Given the description of an element on the screen output the (x, y) to click on. 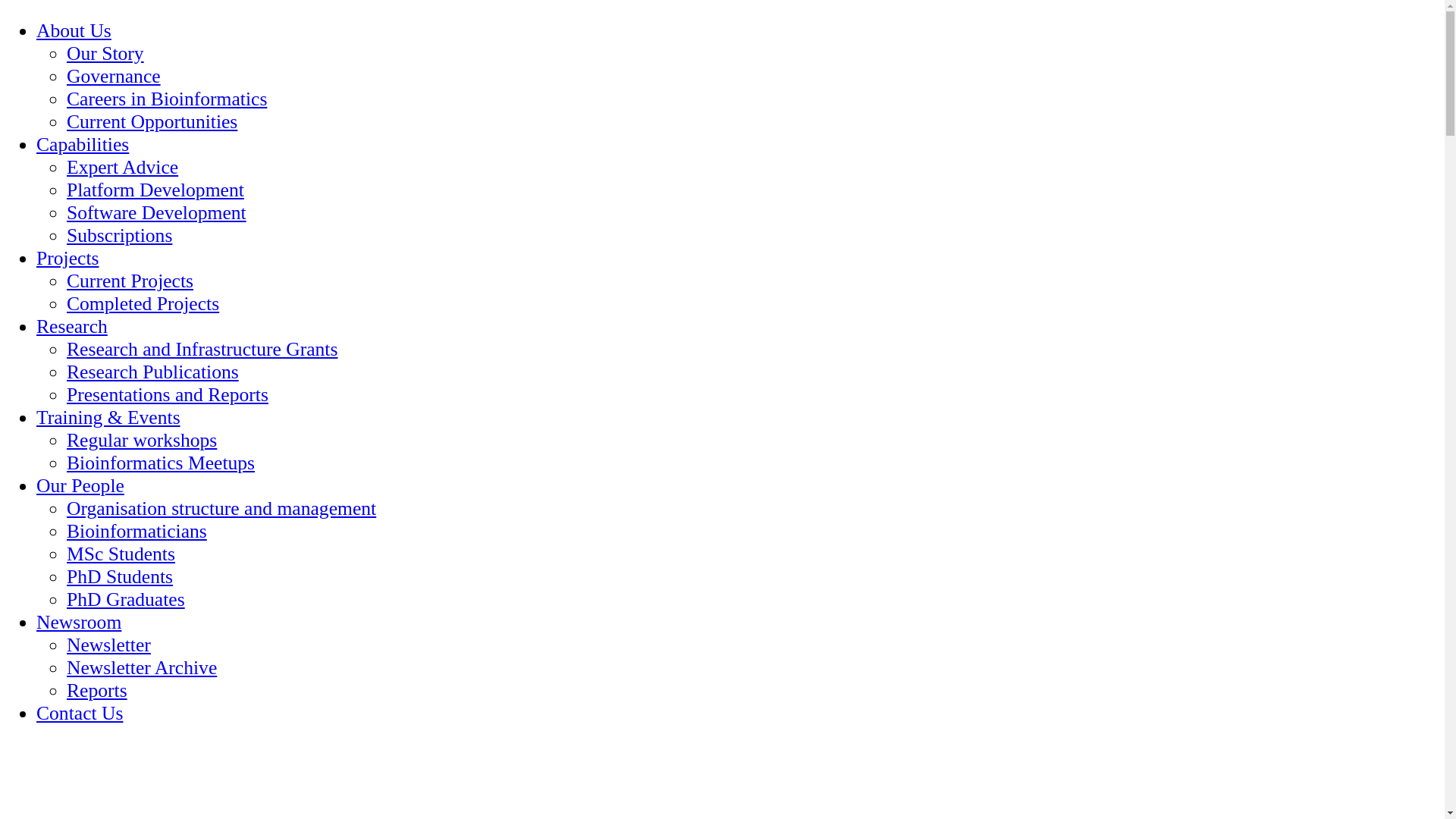
Newsletter Archive Element type: text (141, 667)
Research and Infrastructure Grants Element type: text (201, 349)
Careers in Bioinformatics Element type: text (166, 98)
Research Publications Element type: text (152, 371)
Governance Element type: text (113, 76)
Bioinformaticians Element type: text (136, 531)
Our Story Element type: text (105, 53)
MSc Students Element type: text (120, 553)
Training & Events Element type: text (108, 417)
Platform Development Element type: text (155, 189)
Expert Advice Element type: text (122, 167)
Capabilities Element type: text (82, 144)
Presentations and Reports Element type: text (167, 394)
PhD Graduates Element type: text (125, 599)
PhD Students Element type: text (119, 576)
Subscriptions Element type: text (119, 235)
Organisation structure and management Element type: text (221, 508)
Newsletter Element type: text (108, 644)
Current Opportunities Element type: text (151, 121)
Research Element type: text (71, 326)
Newsroom Element type: text (78, 622)
Bioinformatics Meetups Element type: text (160, 462)
Completed Projects Element type: text (142, 303)
Projects Element type: text (67, 258)
About Us Element type: text (73, 30)
Reports Element type: text (96, 690)
Skip to content Element type: text (5, 18)
Current Projects Element type: text (129, 280)
Our People Element type: text (80, 485)
Contact Us Element type: text (79, 713)
Regular workshops Element type: text (141, 440)
Software Development Element type: text (156, 212)
